Given the description of an element on the screen output the (x, y) to click on. 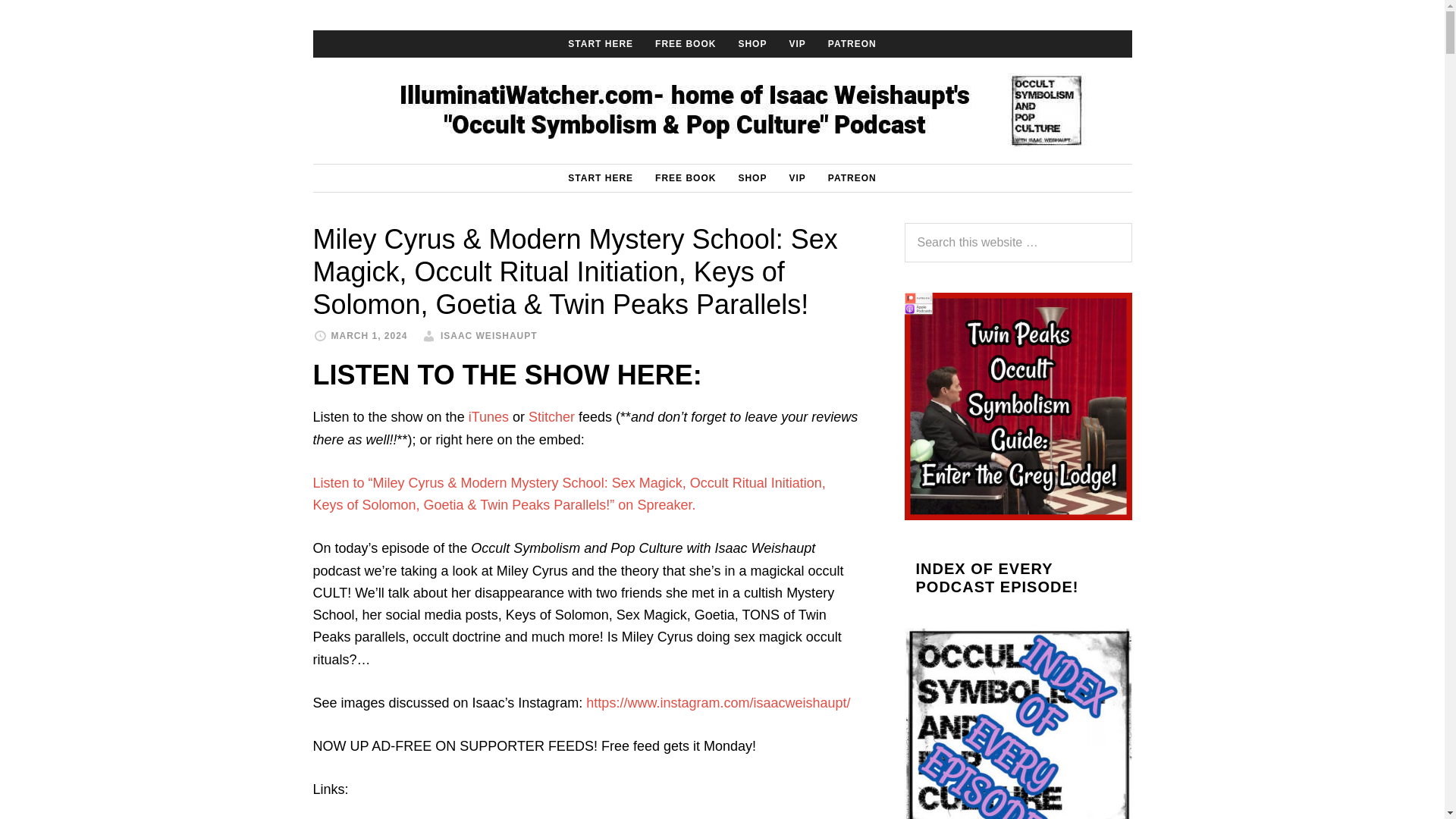
SHOP (752, 177)
SHOP (752, 43)
VIP (795, 177)
FREE BOOK (685, 43)
ILLUMINATIWATCHER (722, 110)
START HERE (600, 43)
ISAAC WEISHAUPT (489, 335)
iTunes (488, 417)
START HERE (600, 177)
